Given the description of an element on the screen output the (x, y) to click on. 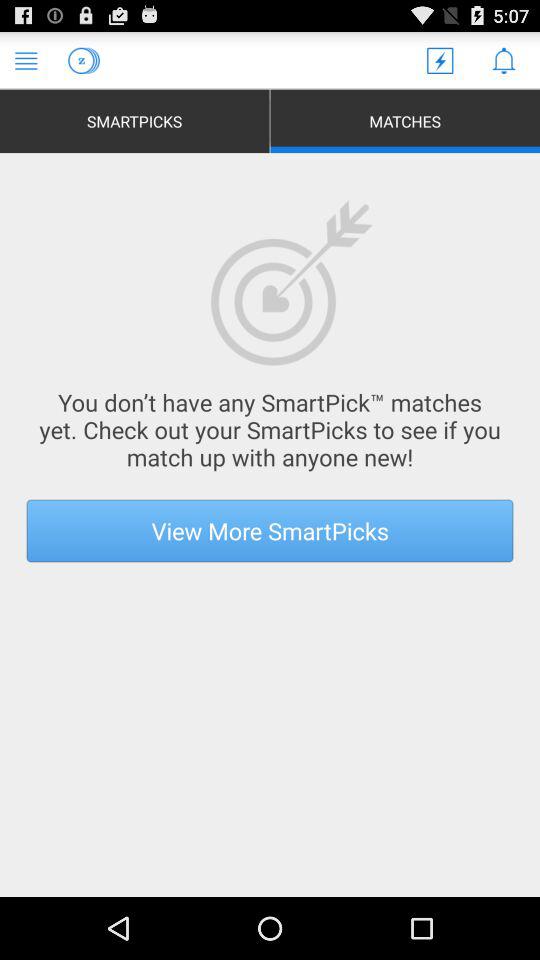
select icon below the you don t (269, 530)
